Given the description of an element on the screen output the (x, y) to click on. 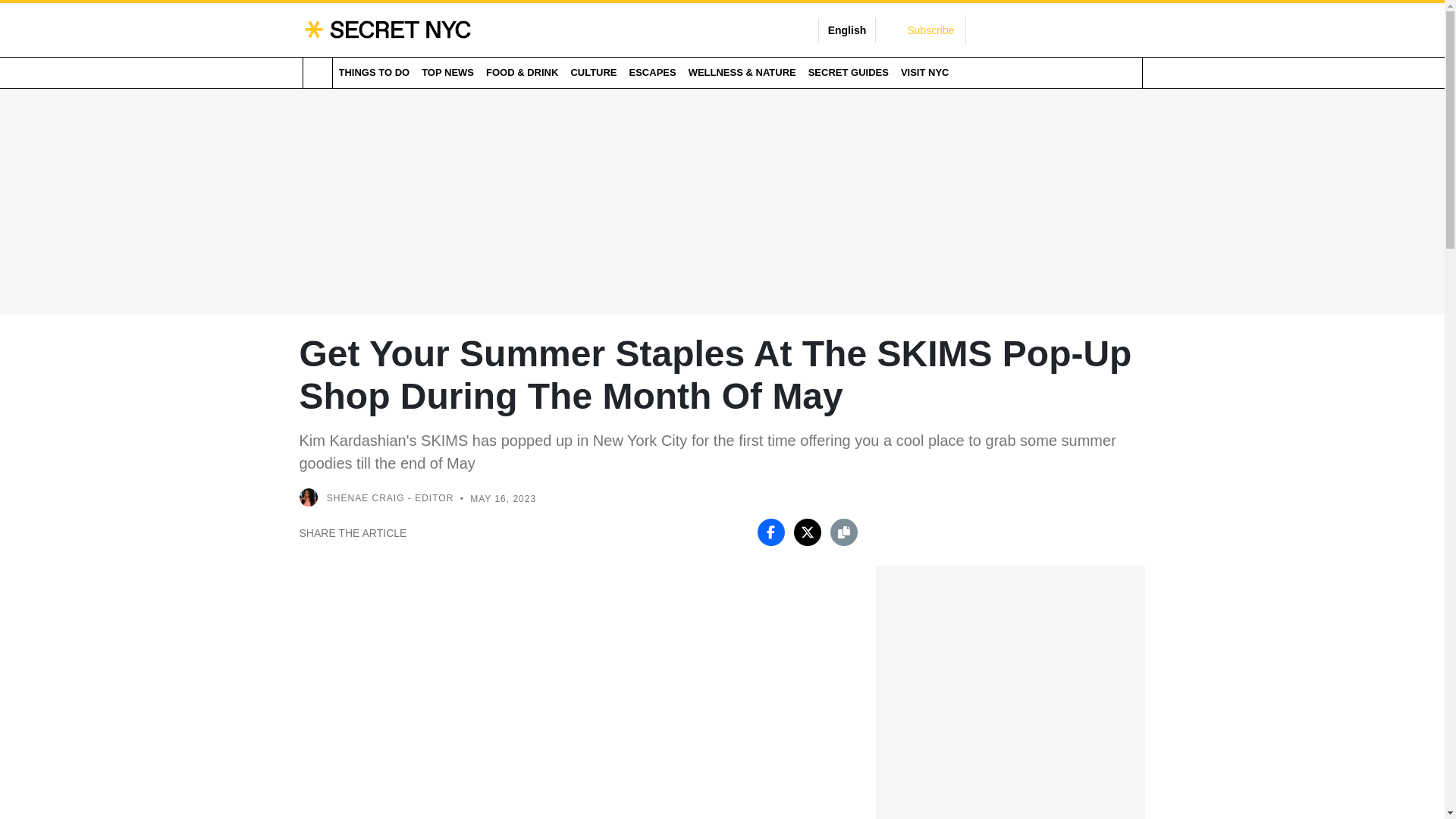
SECRET GUIDES (848, 72)
THINGS TO DO (373, 72)
VISIT NYC (925, 72)
CULTURE (592, 72)
SHENAE CRAIG (365, 498)
ESCAPES (652, 72)
English (847, 29)
TOP NEWS (448, 72)
